Given the description of an element on the screen output the (x, y) to click on. 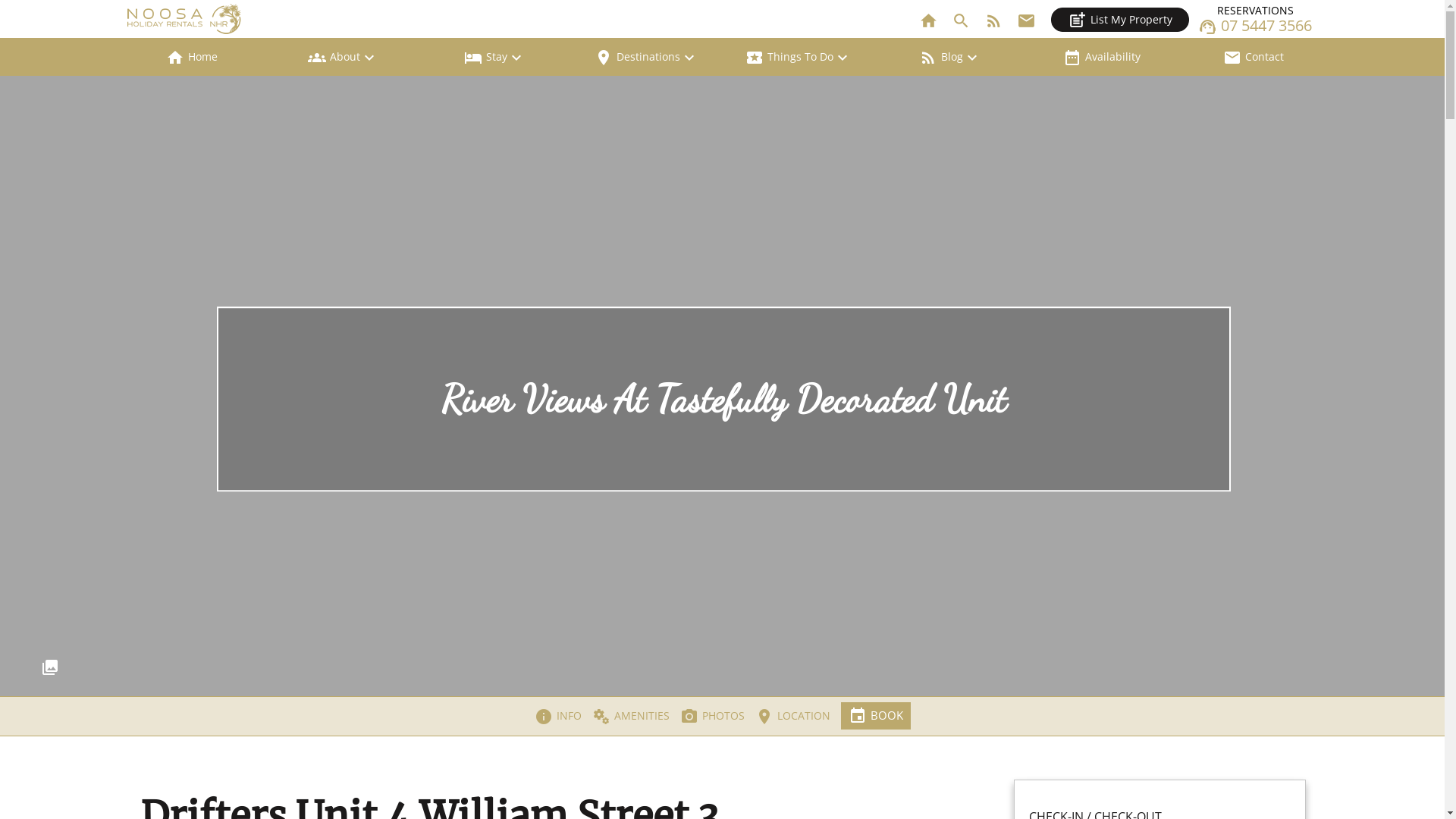
hotelStayexpand_more Element type: text (494, 56)
infoINFO Element type: text (556, 715)
placeDestinationsexpand_more Element type: text (645, 56)
local_activityThings To Doexpand_more Element type: text (797, 56)
post_addList My Property Element type: text (1120, 19)
photo_cameraPHOTOS Element type: text (707, 715)
placeLOCATION Element type: text (788, 715)
home Element type: text (930, 15)
homeHome Element type: text (190, 56)
photo_library Element type: text (1424, 667)
rss_feedBlogexpand_more Element type: text (949, 56)
date_rangeAvailability Element type: text (1100, 56)
emailContact Element type: text (1252, 56)
email Element type: text (1028, 15)
search Element type: text (963, 15)
groupsAboutexpand_more Element type: text (342, 56)
eventBOOK Element type: text (875, 715)
rss_feed Element type: text (995, 15)
support_agent07 5447 3566 Element type: text (1254, 25)
photo_library Element type: text (722, 348)
miscellaneous_servicesAMENITIES Element type: text (625, 715)
